Given the description of an element on the screen output the (x, y) to click on. 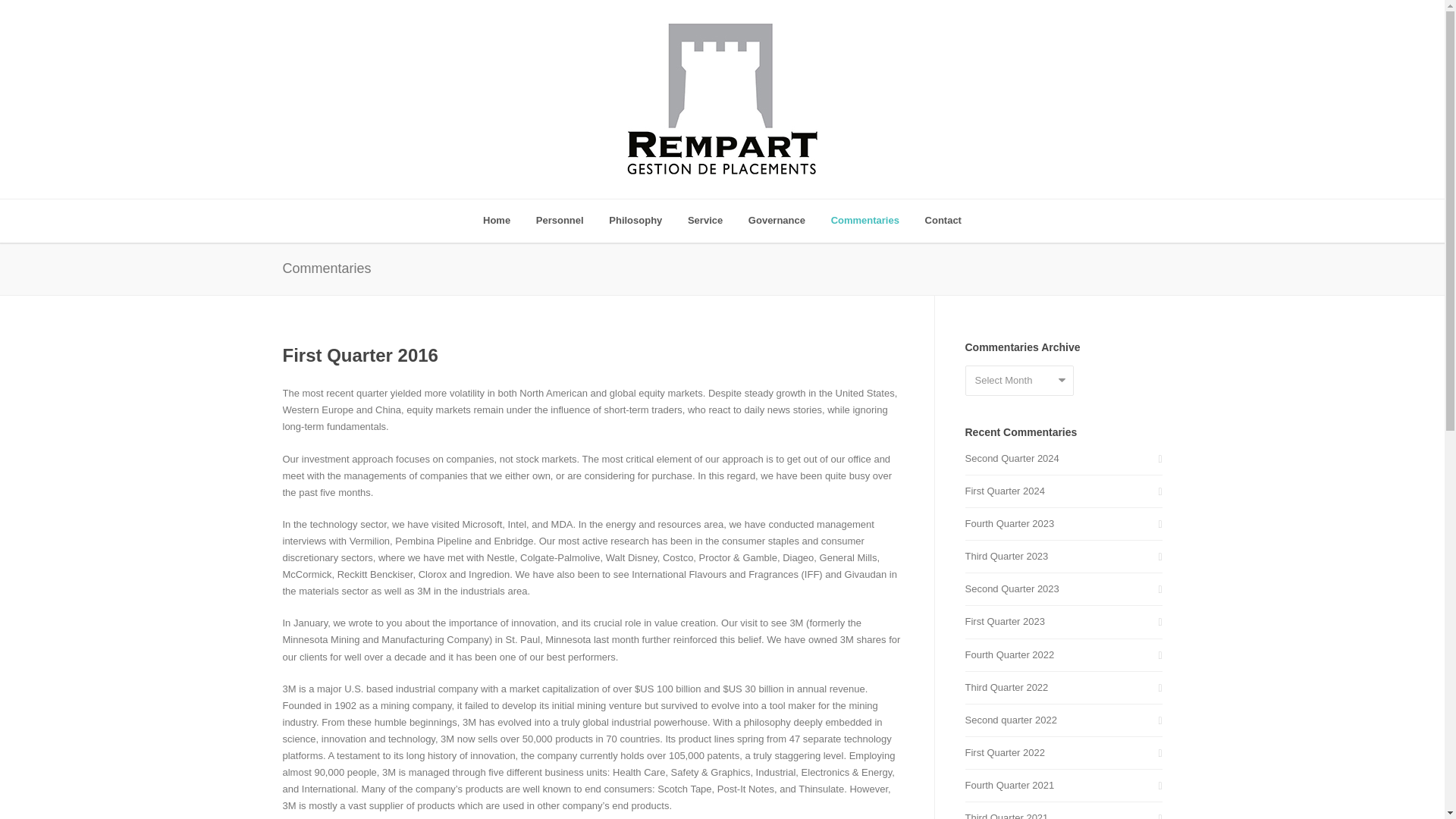
First Quarter 2016 (360, 354)
Third Quarter 2023 (1062, 556)
Personnel (559, 220)
First Quarter 2022 (1062, 752)
Governance (776, 220)
Philosophy (634, 220)
Permalink to First Quarter 2016 (360, 354)
Third Quarter 2021 (1062, 814)
First Quarter 2024 (1062, 491)
Commentaries (865, 220)
Fourth Quarter 2023 (1062, 523)
Second Quarter 2024 (1062, 458)
Service (705, 220)
First Quarter 2023 (1062, 621)
Contact (943, 220)
